Given the description of an element on the screen output the (x, y) to click on. 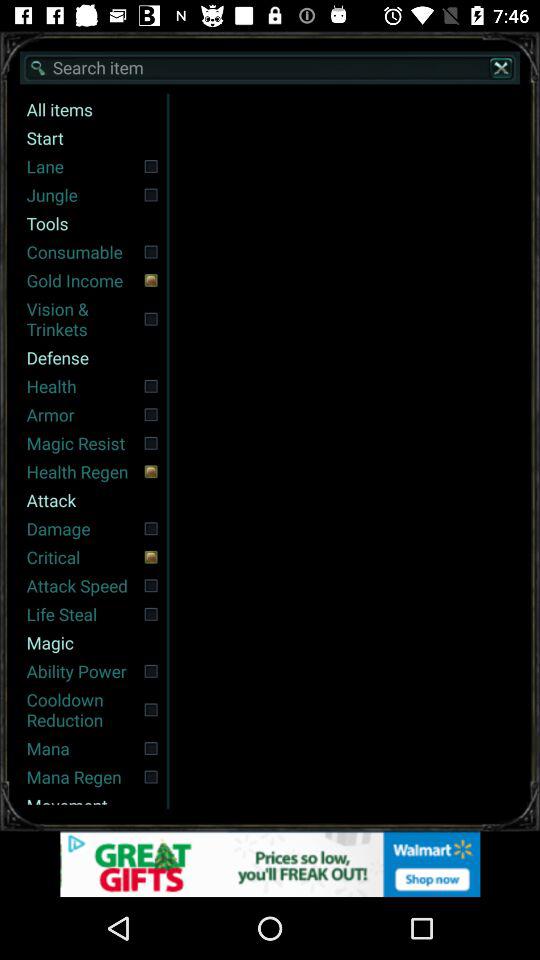
open advertisement (270, 864)
